Given the description of an element on the screen output the (x, y) to click on. 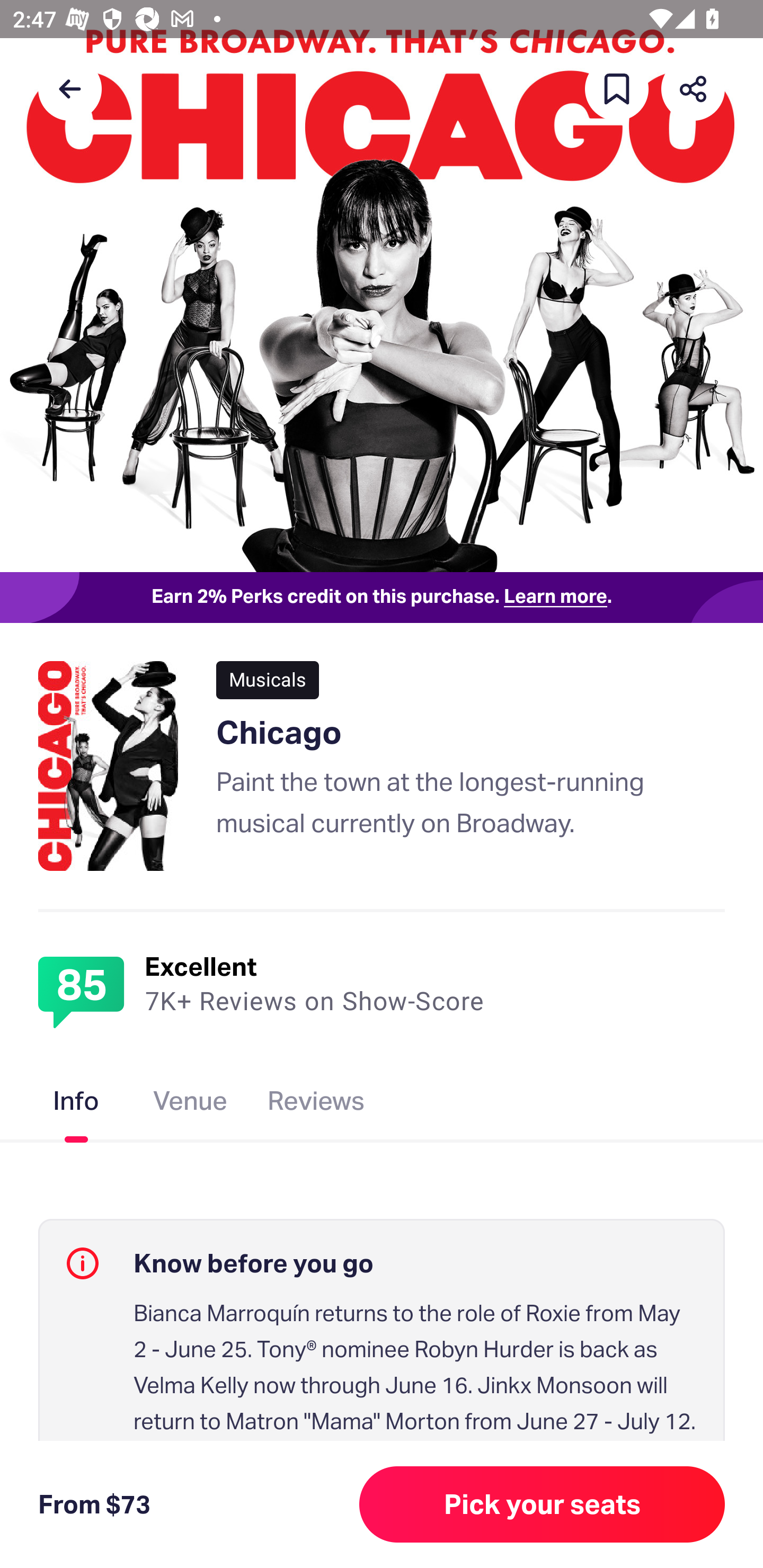
Earn 2% Perks credit on this purchase. Learn more. (381, 597)
Venue (190, 1104)
Reviews (315, 1104)
Pick your seats (541, 1504)
